Given the description of an element on the screen output the (x, y) to click on. 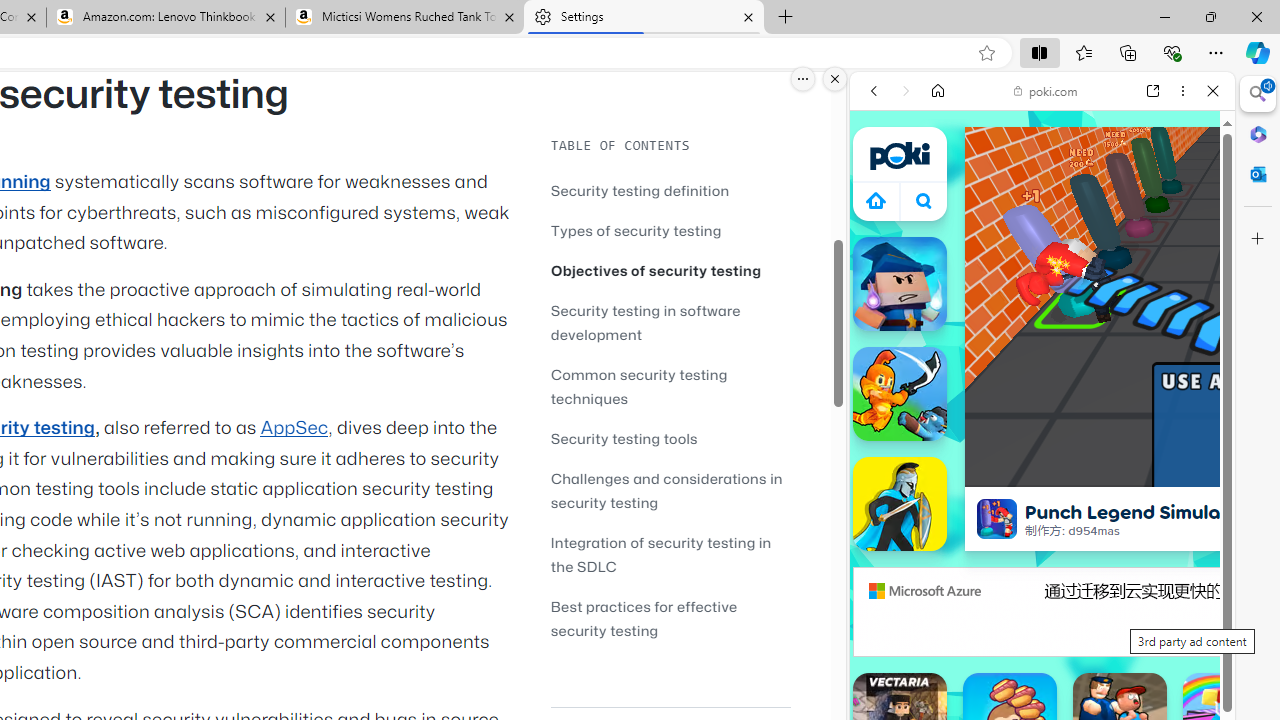
Poki (1034, 288)
Sword Masters Sword Masters (899, 393)
Punch Legend Simulator (996, 518)
Challenges and considerations in security testing (670, 489)
Class: aprWdaSScyiJf4Jvmsx9 (875, 200)
Two Player Games (1042, 567)
Io Games (1042, 616)
Two Player Games (1042, 568)
